Given the description of an element on the screen output the (x, y) to click on. 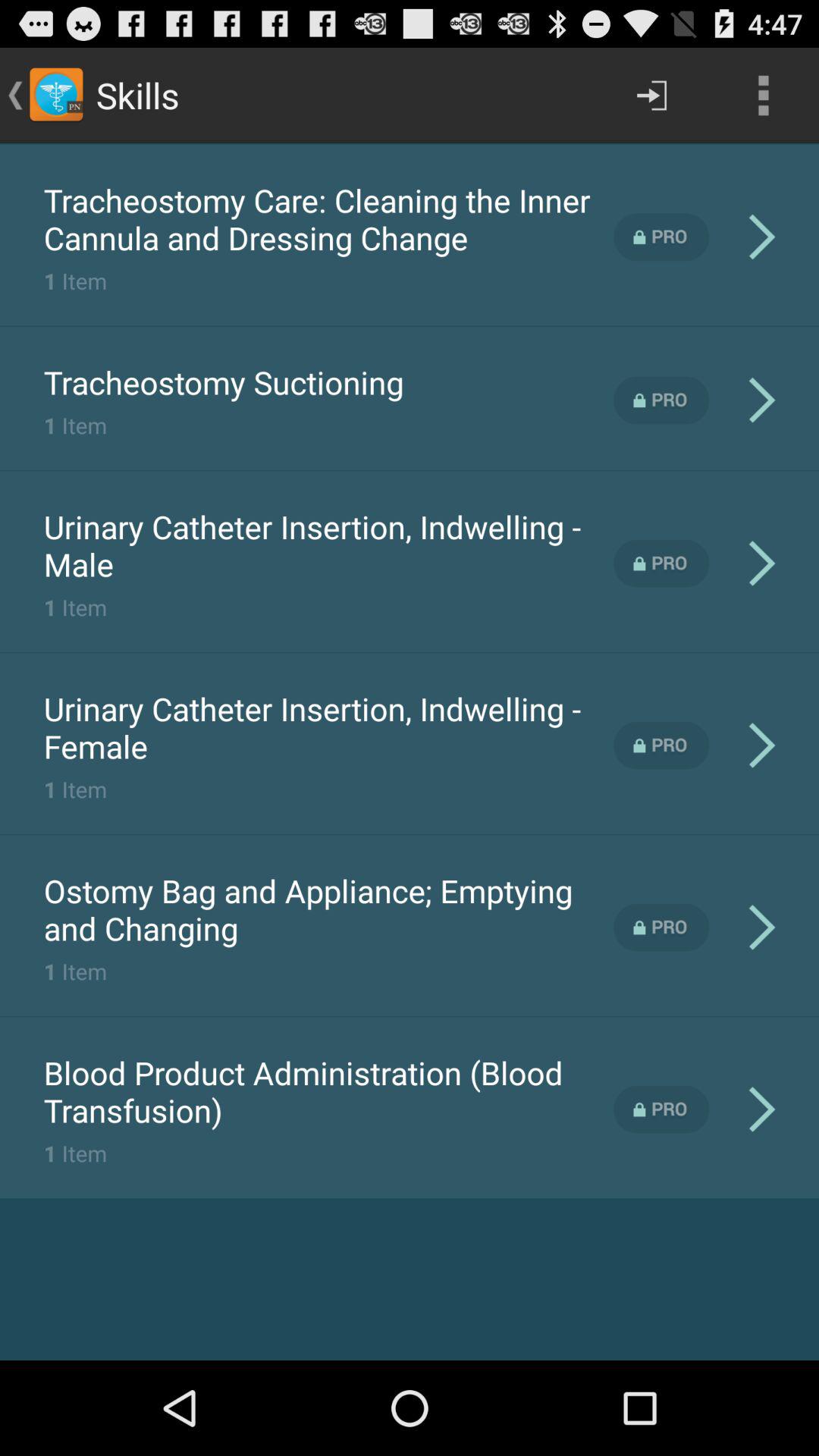
pro feature locked (661, 563)
